Given the description of an element on the screen output the (x, y) to click on. 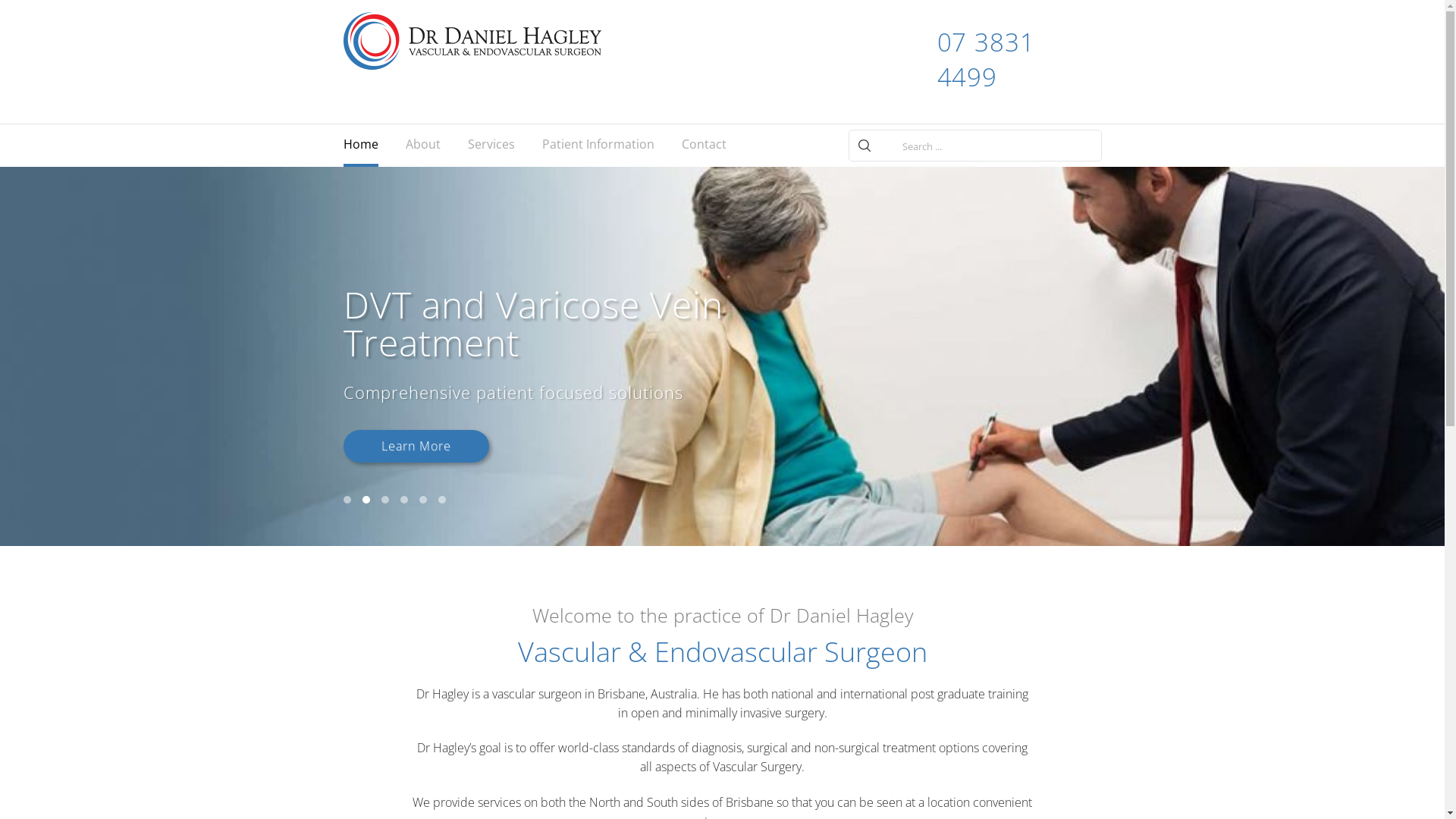
Patient Information Element type: text (597, 145)
Home Element type: text (359, 145)
Your First Visit Element type: text (582, 211)
Appointment Request Element type: text (582, 184)
New Patient Registration Element type: text (582, 292)
Enter the terms you wish to search for. Element type: hover (995, 145)
Useful Resources Element type: text (582, 319)
Stroke Prevention Element type: text (508, 265)
Hagley Vascular (Dr Daniel Hagley) Home Element type: hover (471, 40)
About Element type: text (421, 145)
07 3831 4499 Element type: text (1006, 59)
Circulation Element type: text (508, 184)
Aneurysm Repair Element type: text (508, 238)
Contact Element type: text (702, 145)
Services Element type: text (490, 145)
Fees and Payment Element type: text (582, 265)
Contact Us Element type: text (722, 184)
Dr Daniel Hagley Element type: text (446, 211)
Search Element type: text (864, 145)
FAQ Element type: text (582, 238)
DVT and Varicose veins Element type: text (508, 211)
Learn More Element type: text (415, 445)
Locations Element type: text (722, 211)
Skip to main content Element type: text (55, 0)
Vascular Access Element type: text (508, 292)
Our Practice Element type: text (446, 184)
Hagley Vascular (Dr Daniel Hagley) Home Element type: hover (500, 40)
